Given the description of an element on the screen output the (x, y) to click on. 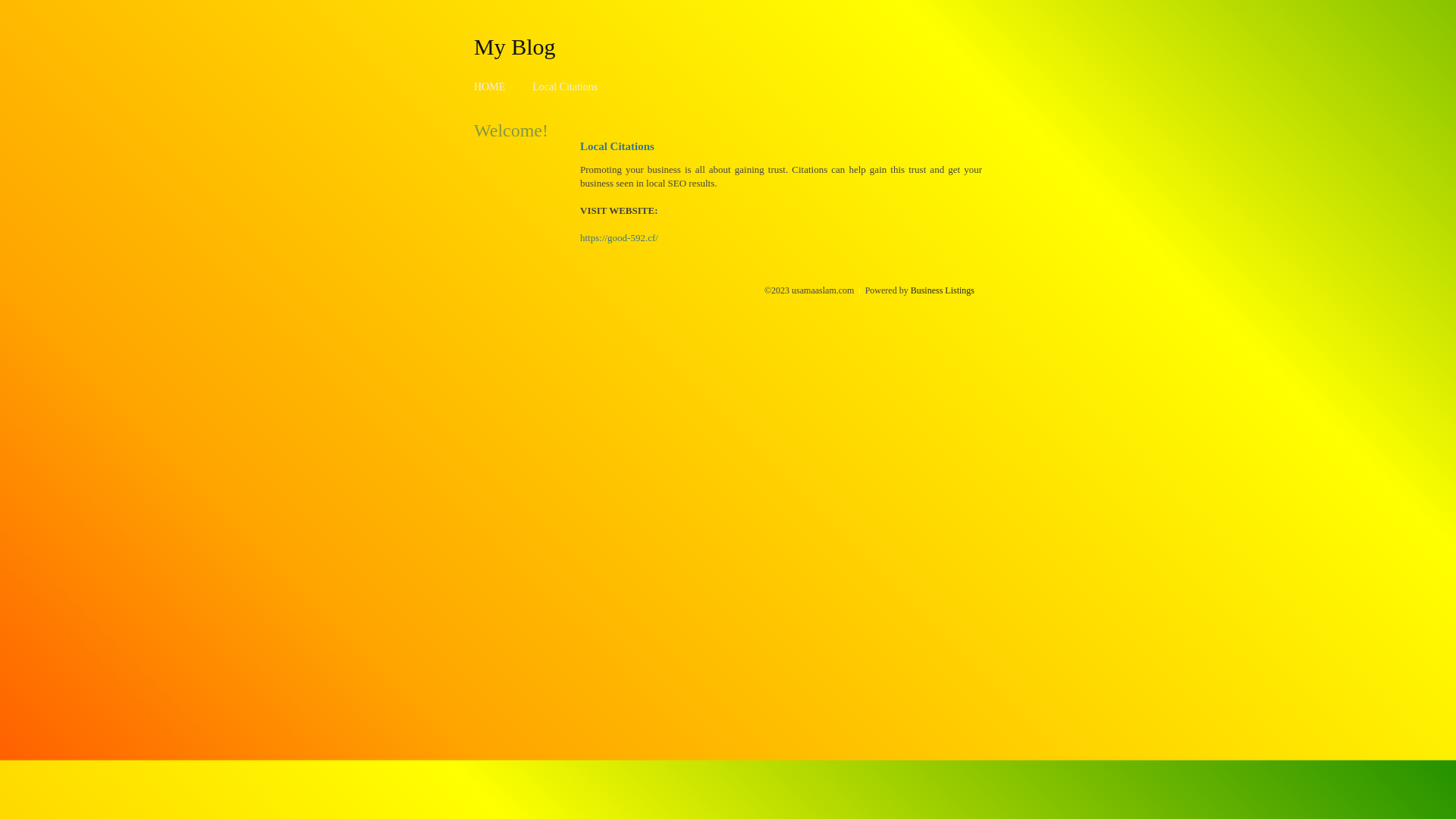
HOME Element type: text (489, 86)
Local Citations Element type: text (564, 86)
Business Listings Element type: text (942, 290)
My Blog Element type: text (514, 46)
https://good-592.cf/ Element type: text (619, 237)
